Given the description of an element on the screen output the (x, y) to click on. 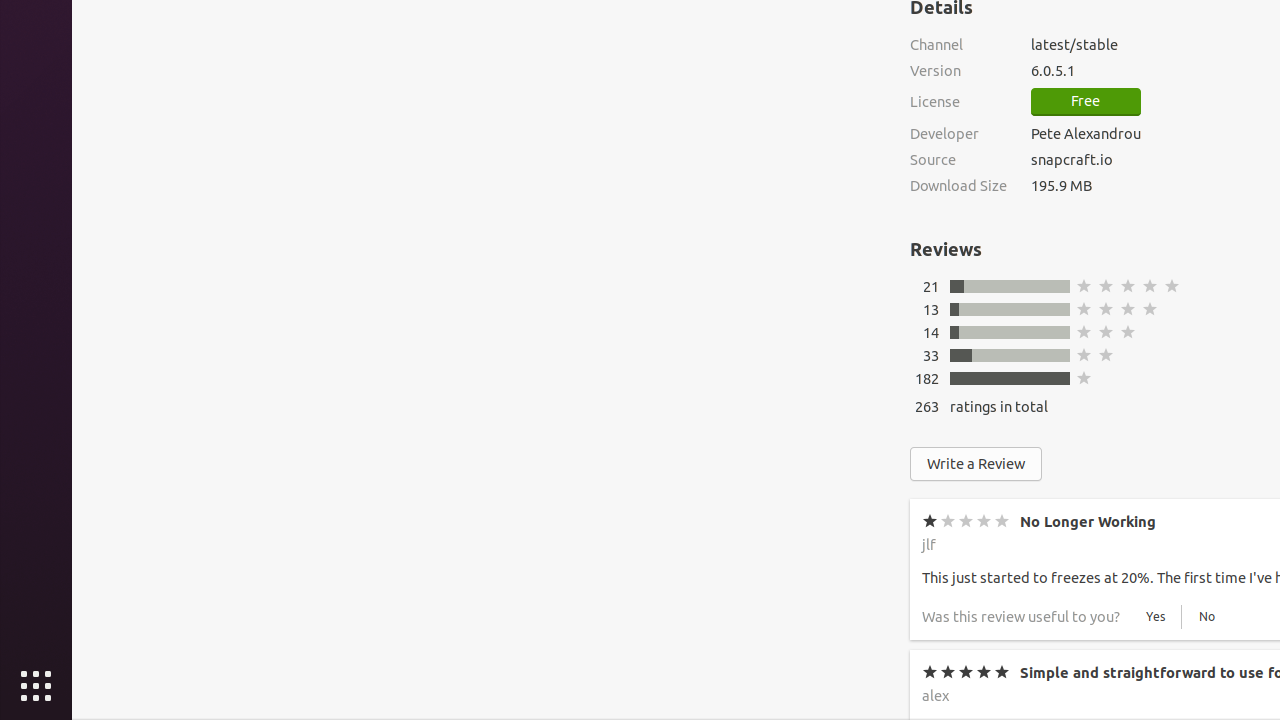
182 Element type: label (927, 378)
263 Element type: label (927, 406)
Download Size Element type: label (958, 185)
Channel Element type: label (958, 44)
